Given the description of an element on the screen output the (x, y) to click on. 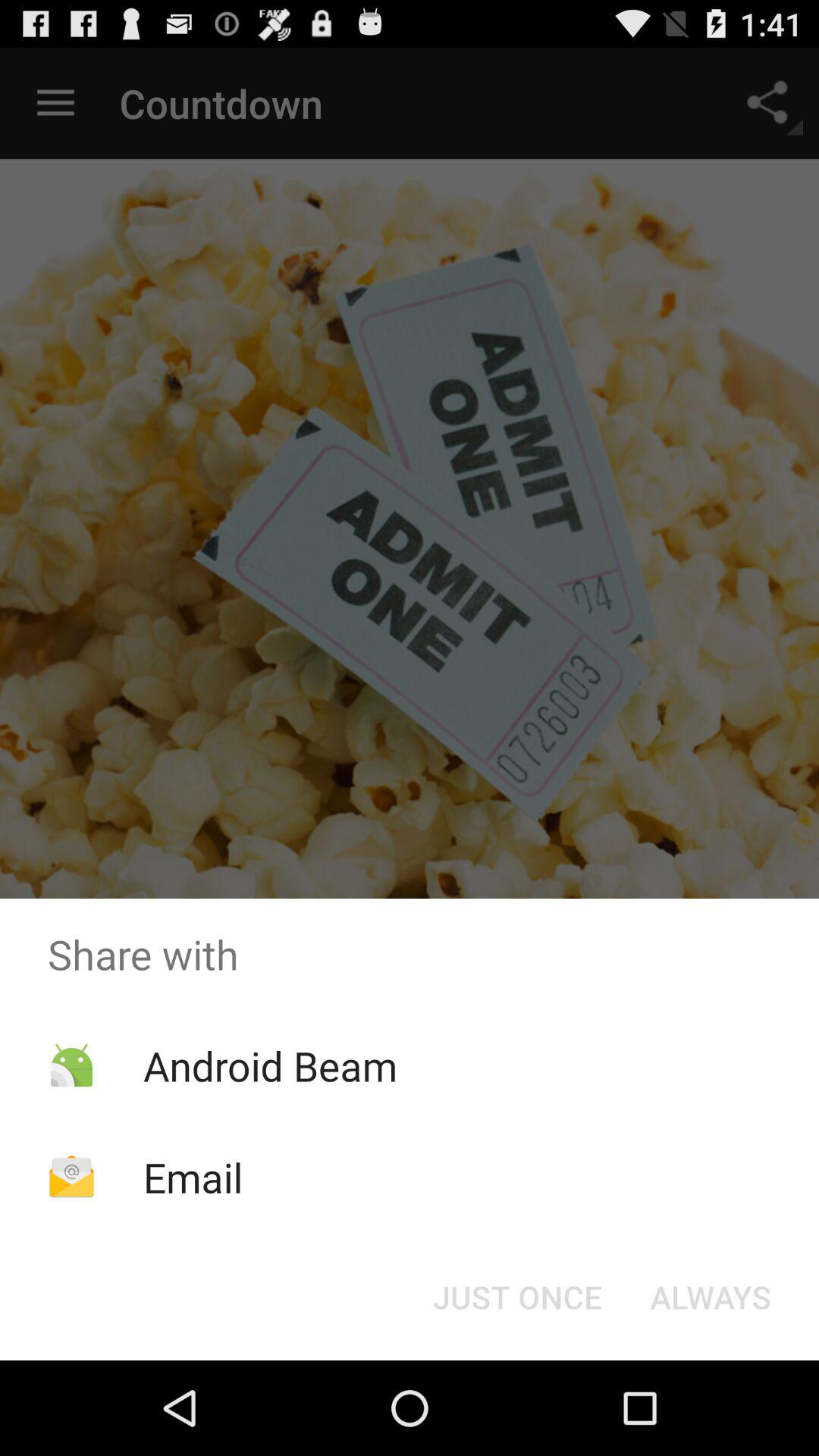
open item below the share with icon (710, 1296)
